Given the description of an element on the screen output the (x, y) to click on. 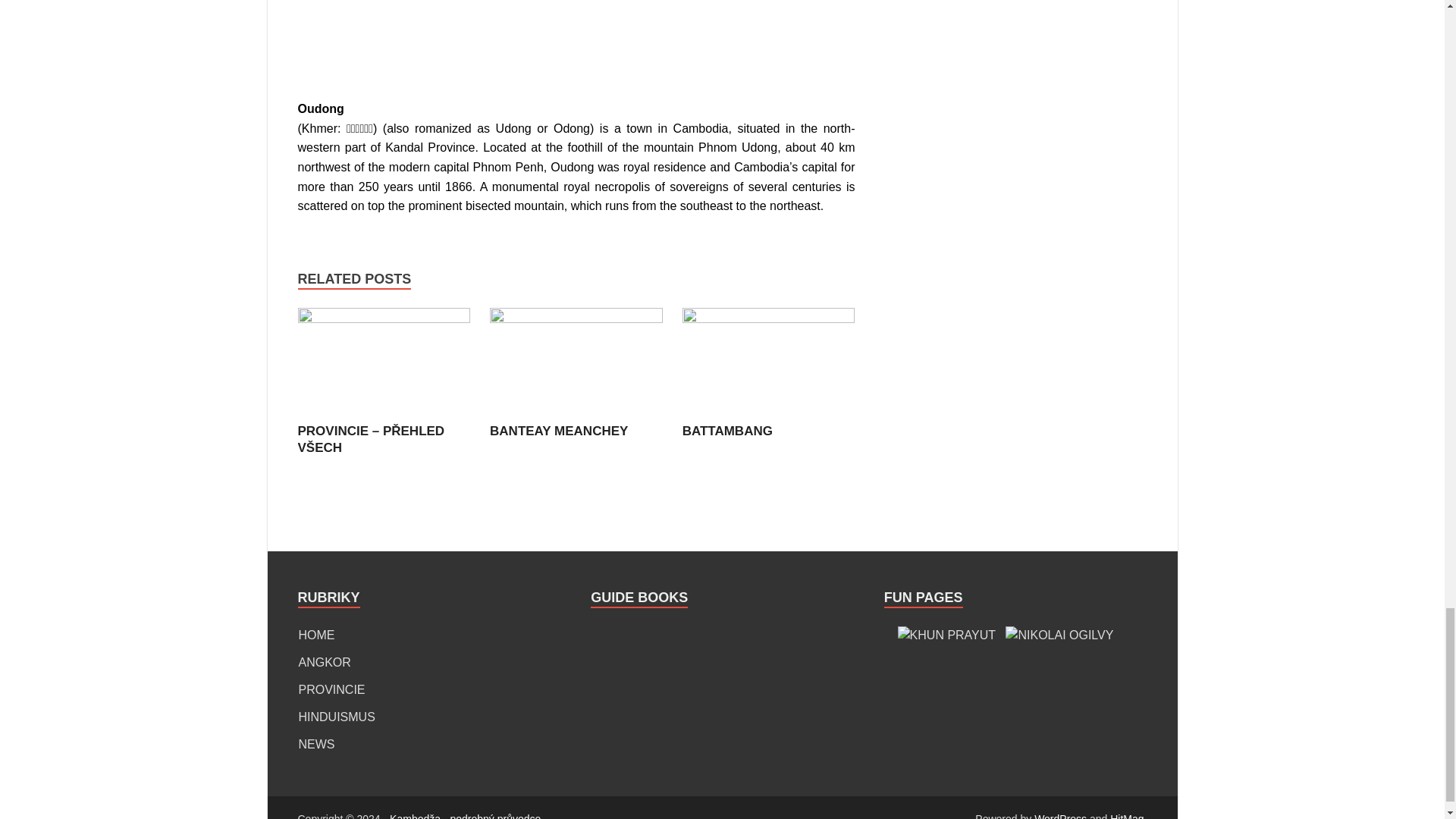
BANTEAY MEANCHEY (558, 431)
ANGKOR (324, 662)
KHUN PRAYUT (946, 635)
NEWS (316, 744)
BATTAMBANG (727, 431)
BANTEAY MEANCHEY (558, 431)
BANTEAY MEANCHEY (575, 318)
NIKOLAI OGILVY (1059, 635)
BATTAMBANG (769, 318)
HOME (316, 634)
